Given the description of an element on the screen output the (x, y) to click on. 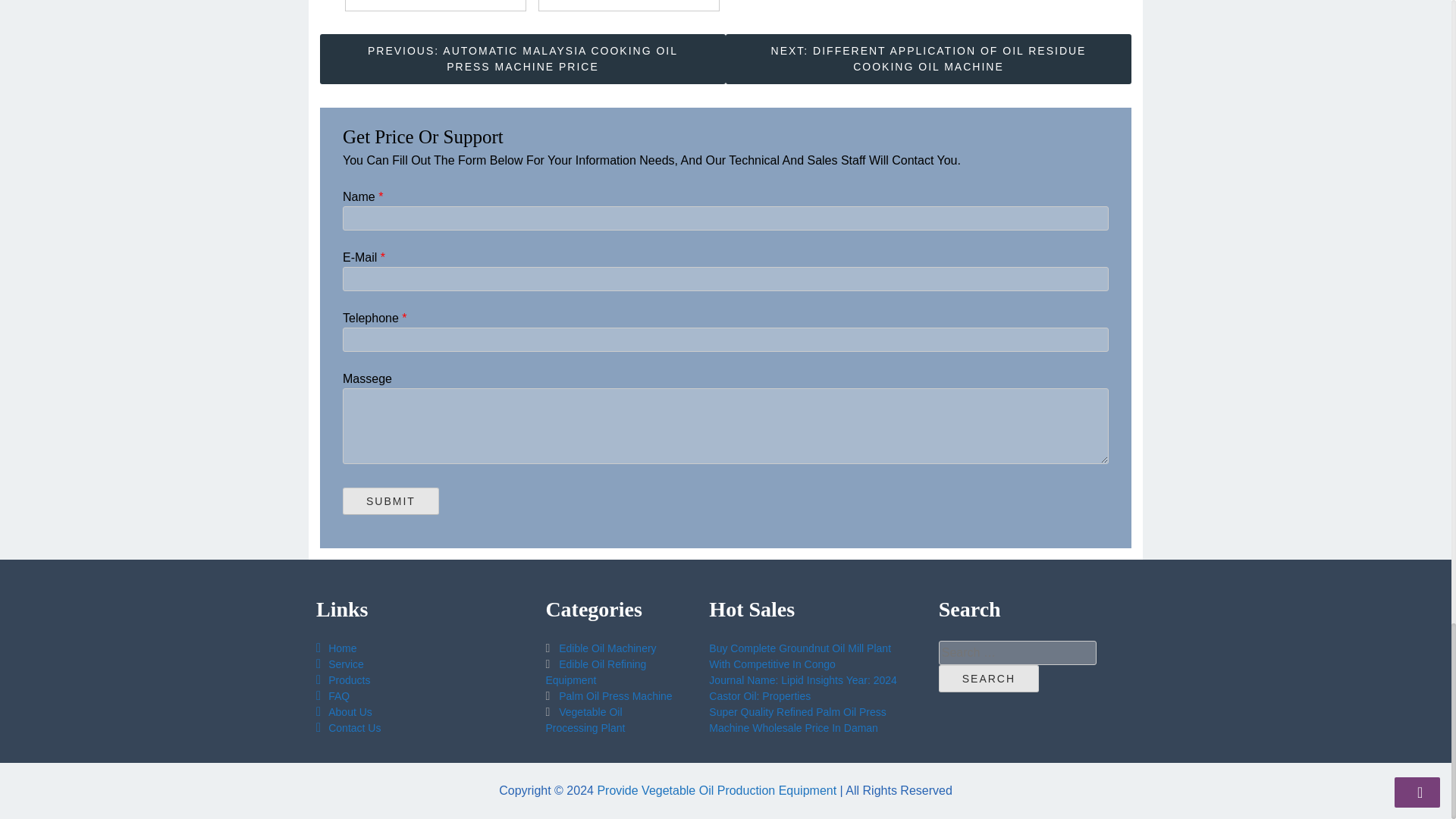
Submit (390, 501)
Search (989, 678)
Search (989, 678)
